Given the description of an element on the screen output the (x, y) to click on. 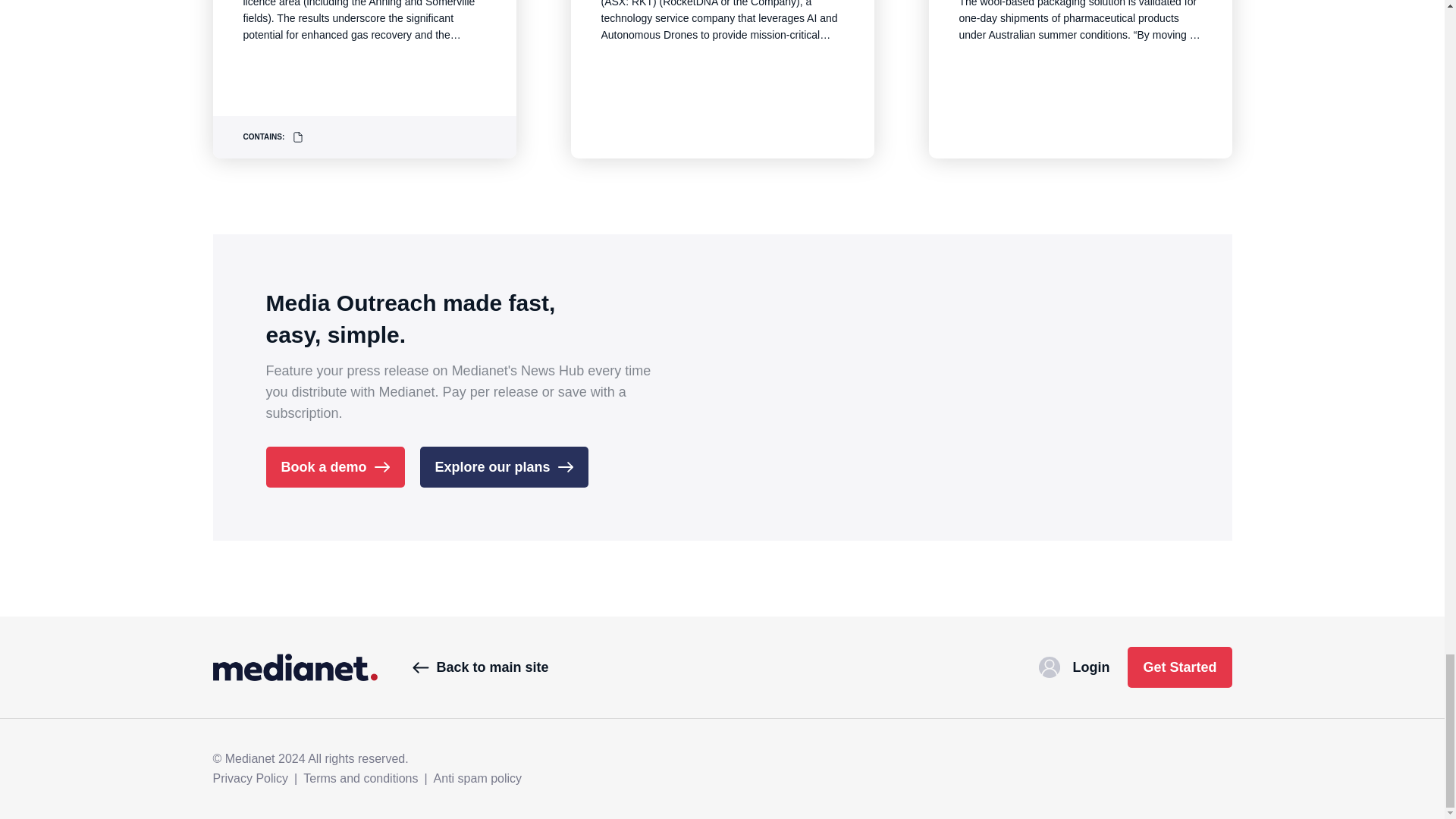
Anti spam policy (477, 778)
Back to main site (480, 667)
Attachments (298, 137)
News Hub (294, 667)
Get Started (1178, 667)
Book a demo (334, 466)
Privacy Policy (250, 778)
Login (1074, 667)
Terms and conditions (359, 778)
Explore our plans (504, 466)
